Given the description of an element on the screen output the (x, y) to click on. 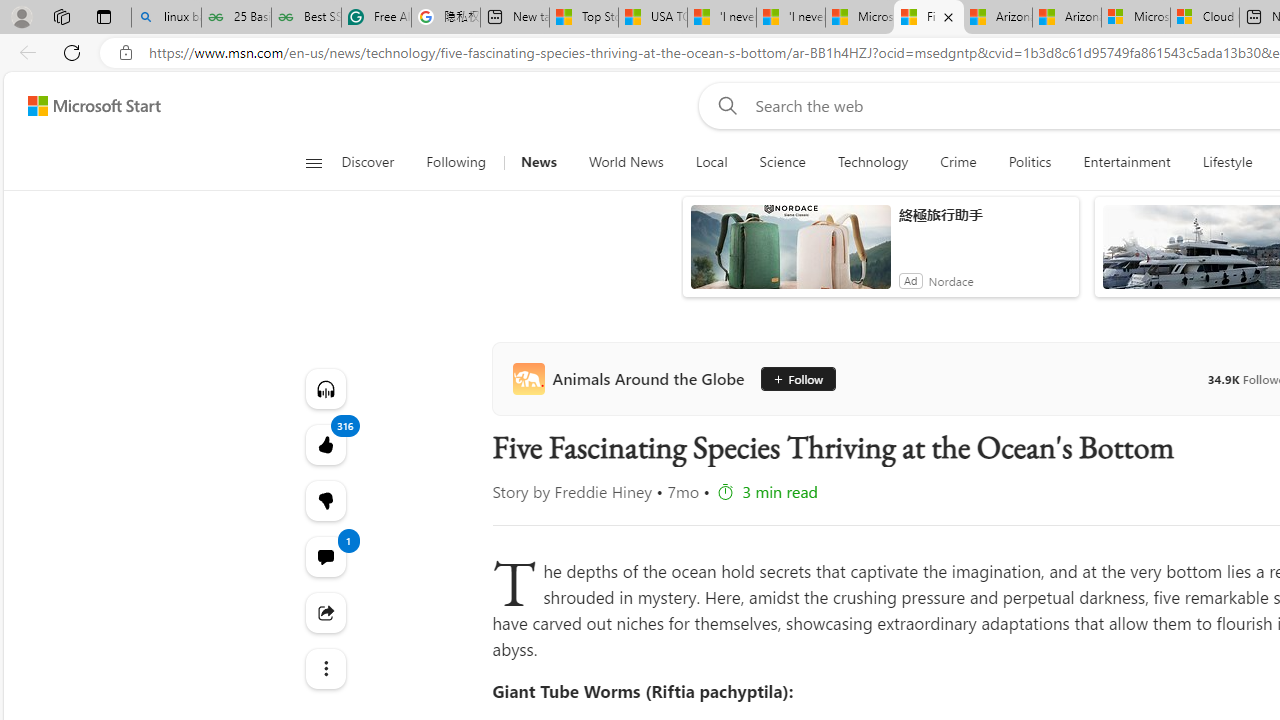
Top Stories - MSN (584, 17)
Science (782, 162)
Five Fascinating Species Thriving at the Ocean's Bottom (928, 17)
Technology (872, 162)
Skip to footer (82, 105)
Skip to content (86, 105)
Politics (1030, 162)
Science (781, 162)
